Given the description of an element on the screen output the (x, y) to click on. 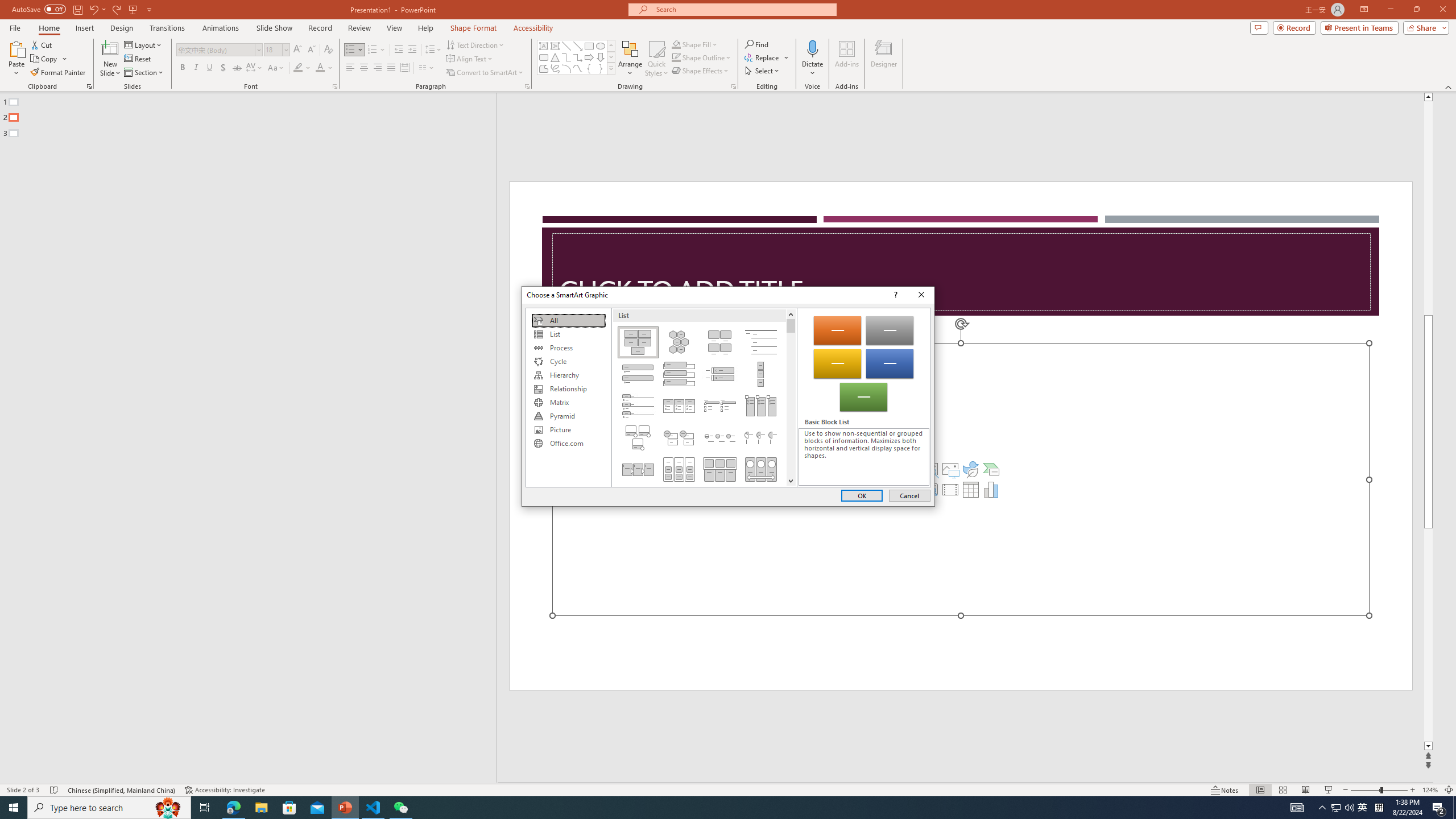
Class: NetUITextbox (862, 456)
Insert an Icon (970, 469)
